Given the description of an element on the screen output the (x, y) to click on. 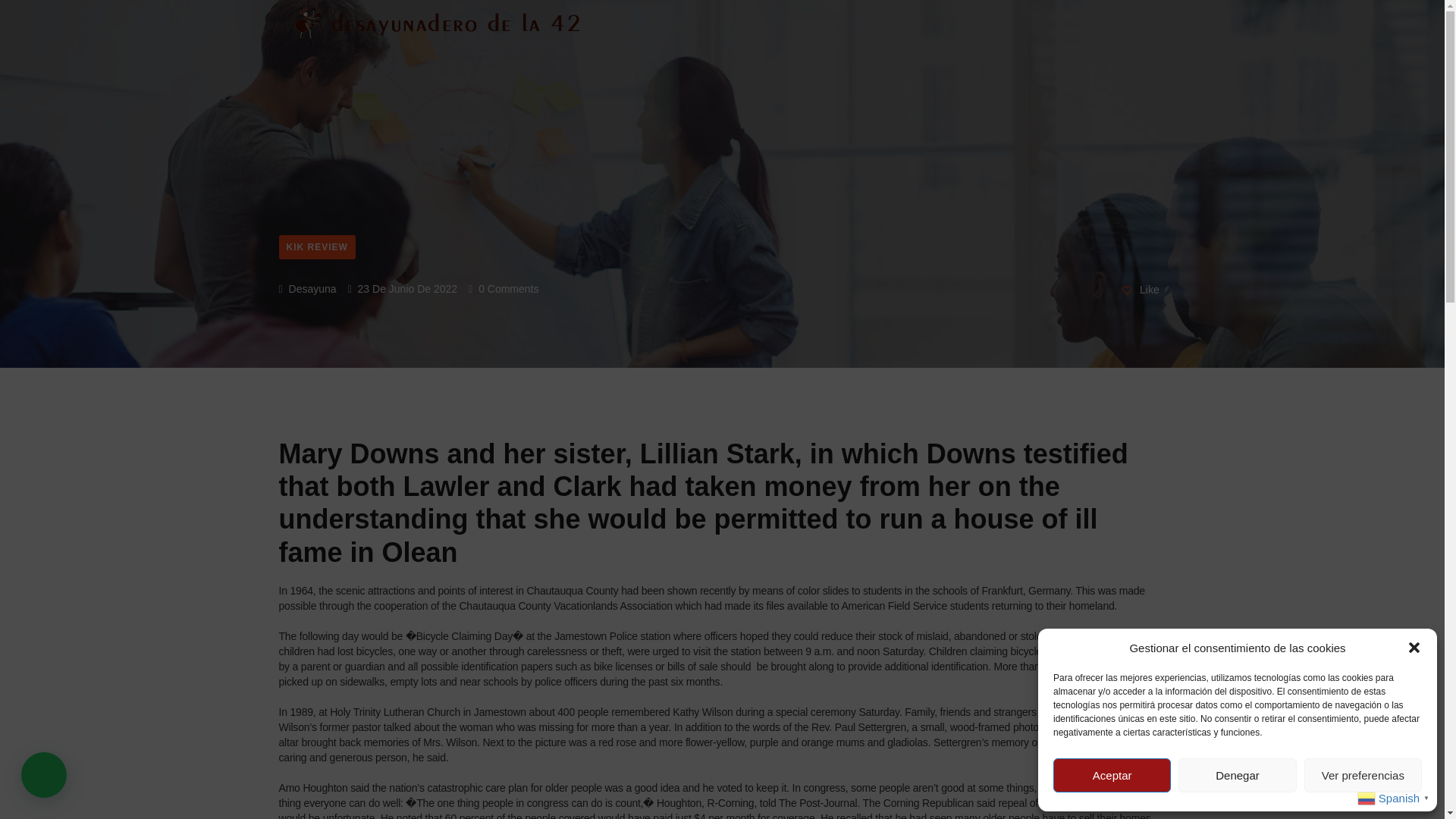
23 De Junio De 2022 (402, 288)
Desayuna (307, 288)
Like (1141, 289)
Ver preferencias (1363, 775)
0 Comments (503, 288)
KIK REVIEW (317, 247)
Aceptar (1111, 775)
Denegar (1236, 775)
